Given the description of an element on the screen output the (x, y) to click on. 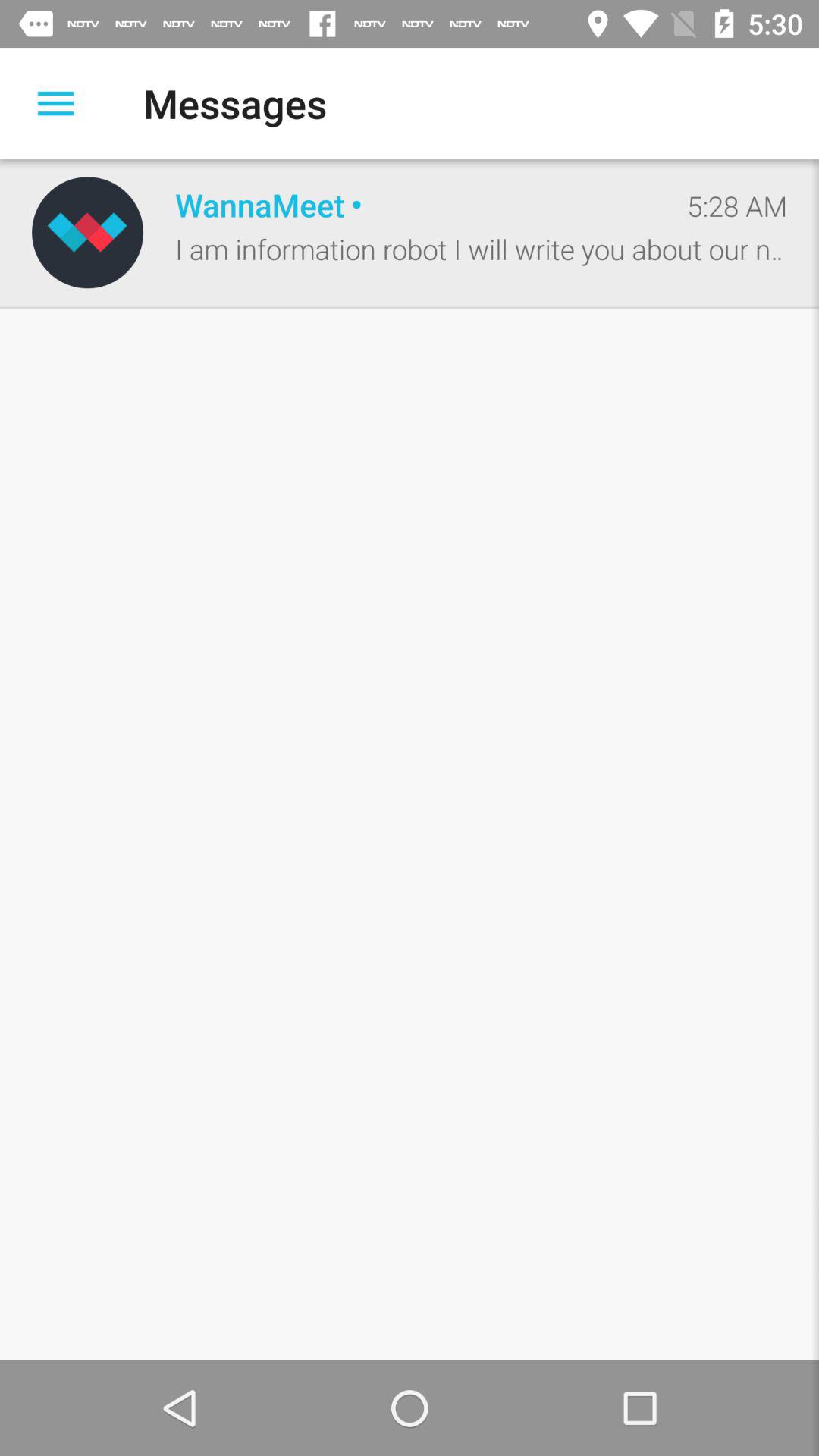
swipe until i am information (481, 248)
